Given the description of an element on the screen output the (x, y) to click on. 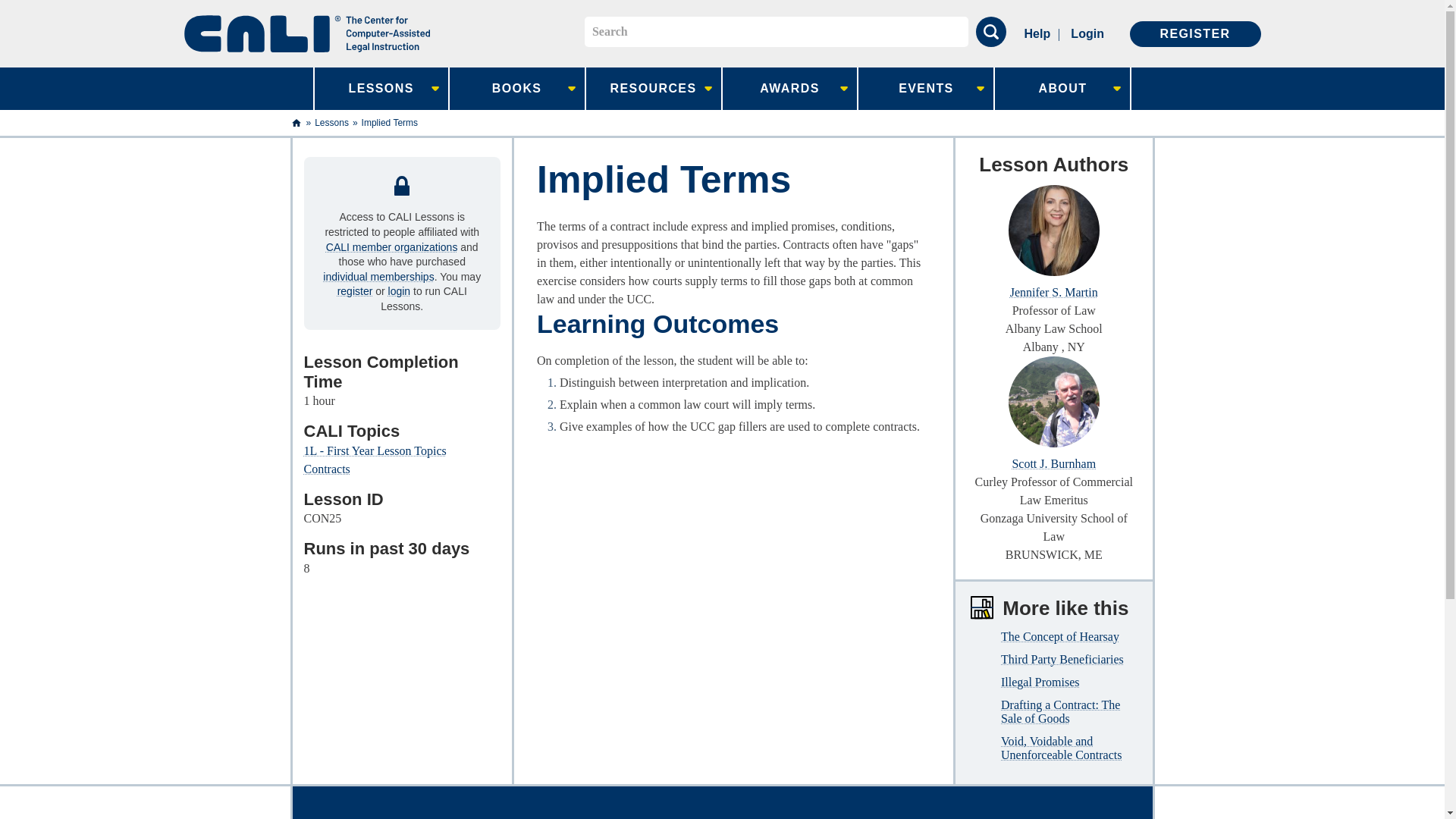
Help (1037, 33)
CALI (306, 33)
Search (990, 31)
Search (990, 31)
REGISTER (1194, 33)
Get help from the CALI FAQ page. (1037, 33)
Login (1088, 33)
Enter the terms you wish to search for. (776, 31)
